Given the description of an element on the screen output the (x, y) to click on. 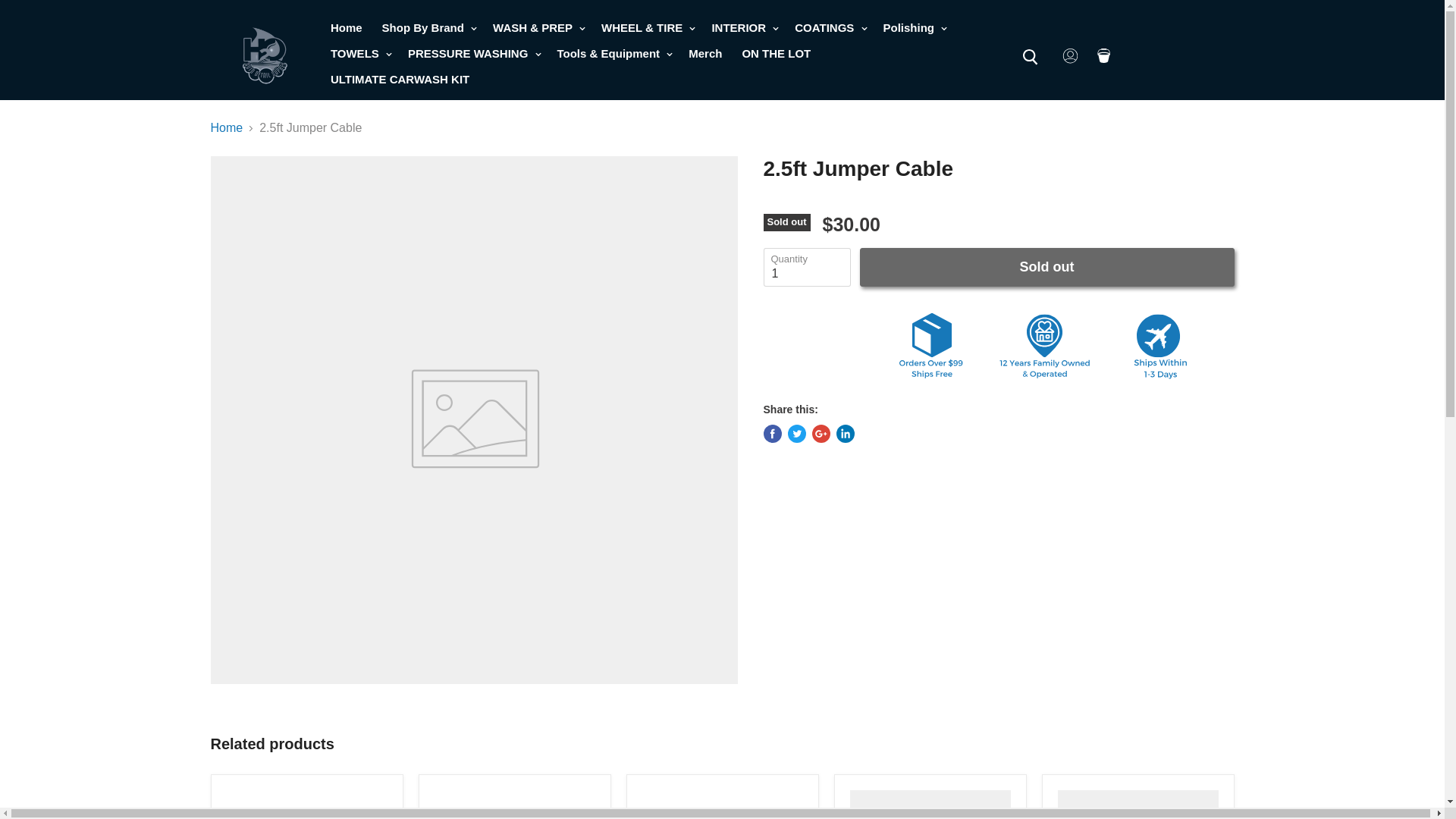
Home (346, 28)
INTERIOR (742, 28)
Shop By Brand (427, 28)
COATINGS (828, 28)
1 (806, 266)
